Given the description of an element on the screen output the (x, y) to click on. 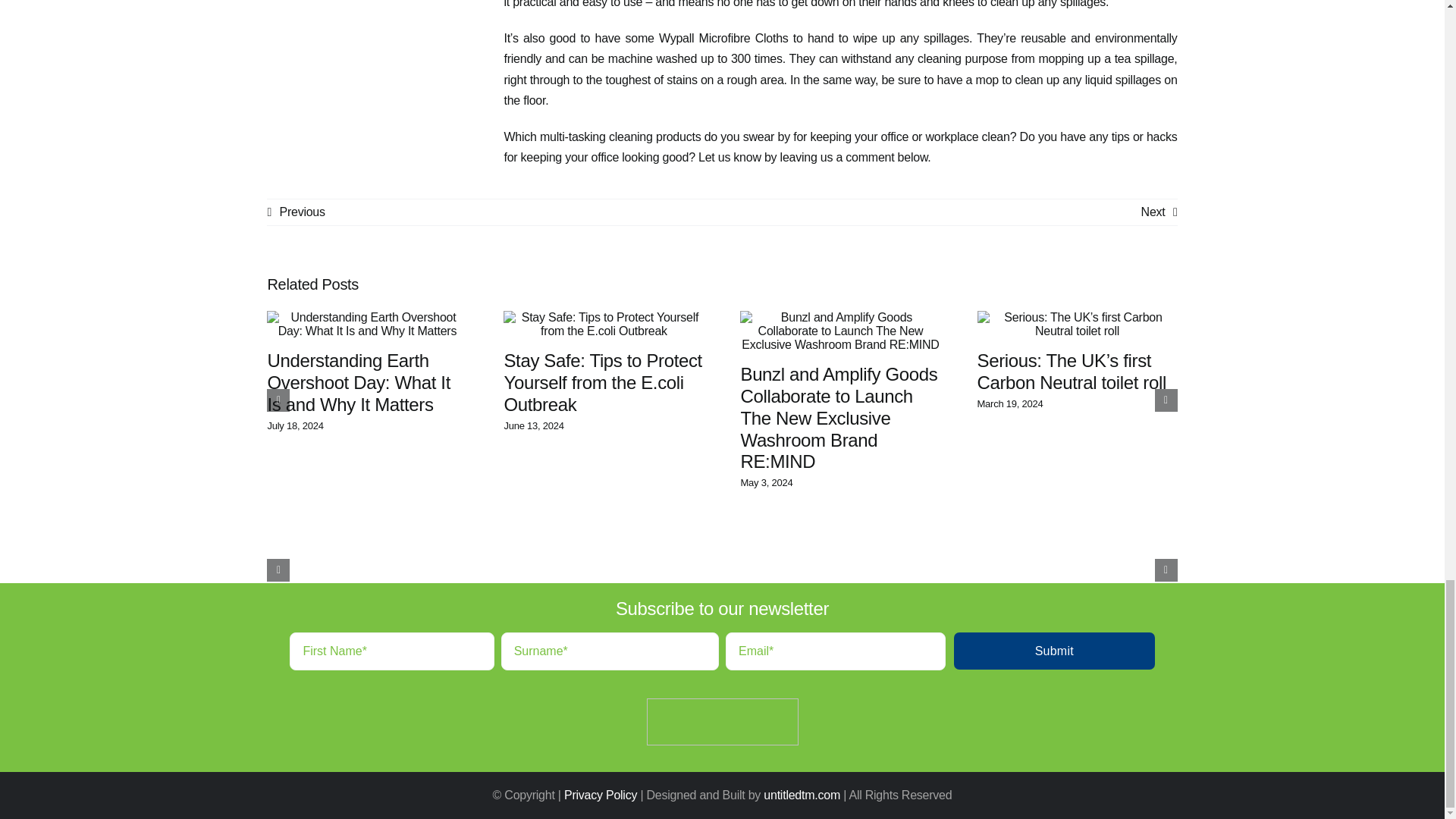
Stay Safe: Tips to Protect Yourself from the E.coli Outbreak (602, 382)
Bunzl BCHS logo (721, 721)
Submit (721, 650)
Wypall Microfibre Cloths (724, 38)
